Given the description of an element on the screen output the (x, y) to click on. 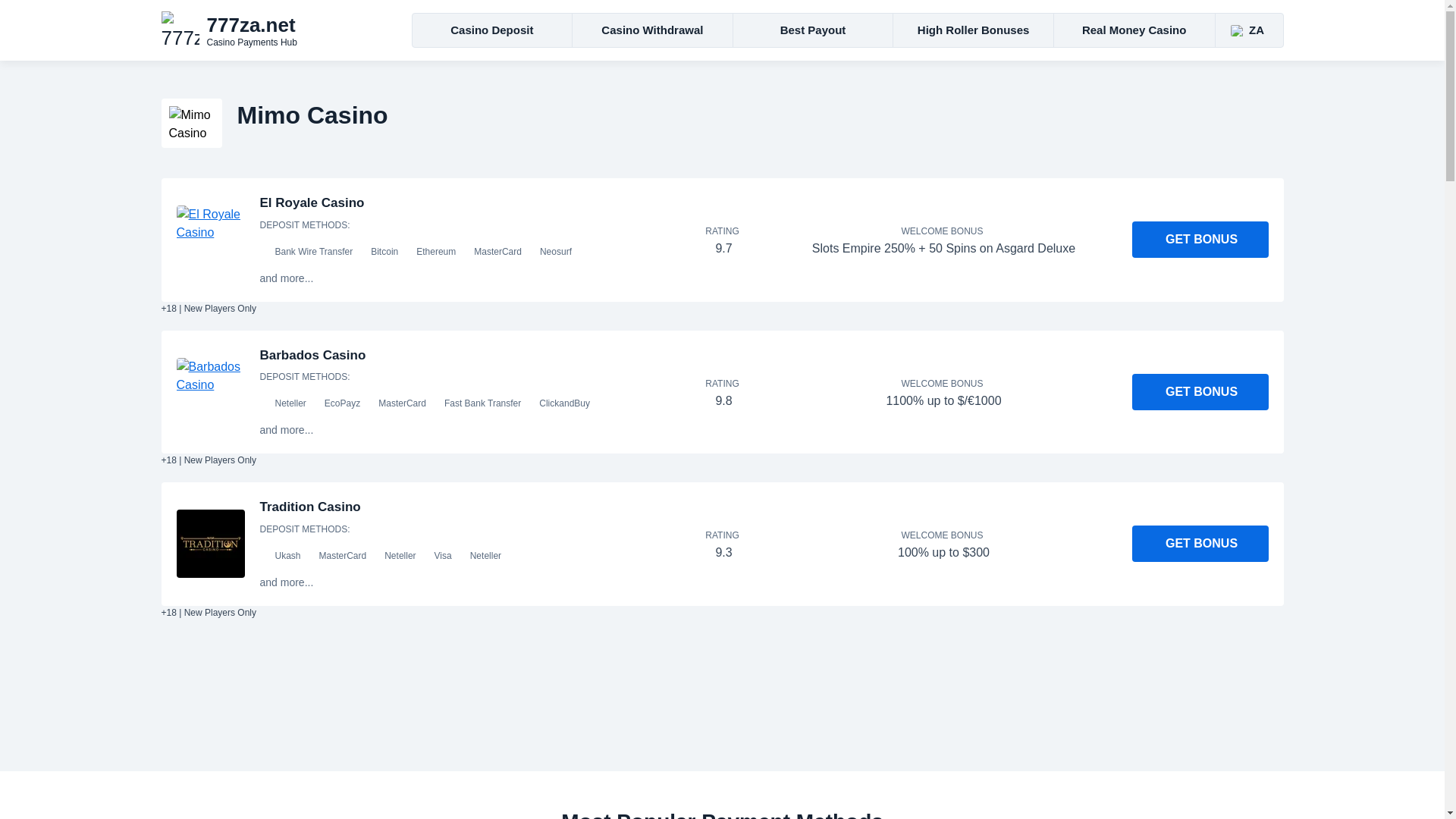
GET BONUS (1199, 391)
Tradition Casino (210, 543)
Real Money Casino (1134, 29)
ZA (1248, 29)
Barbados Casino (210, 391)
Casino Deposit (492, 29)
Best Payout (813, 29)
El Royale Casino (311, 202)
GET BONUS (1199, 239)
El Royale Casino (210, 239)
Casino Withdrawal (652, 29)
Barbados Casino (274, 30)
High Roller Bonuses (312, 354)
